Given the description of an element on the screen output the (x, y) to click on. 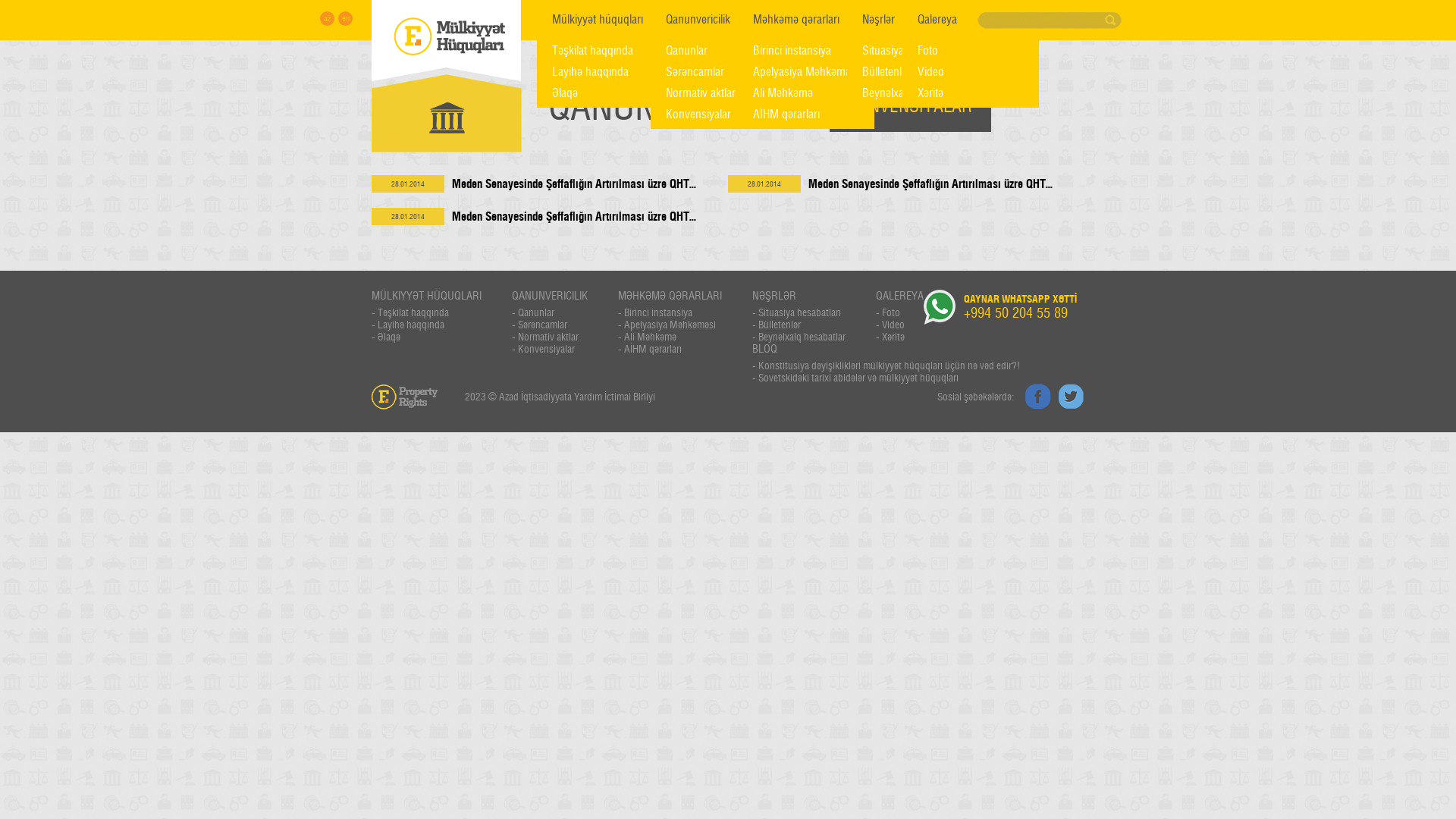
- Video Element type: text (899, 324)
Video Element type: text (970, 71)
Foto Element type: text (970, 50)
- Birinci instansiya Element type: text (669, 312)
Property Rights Element type: text (446, 40)
Konvensiyalar Element type: text (718, 114)
Search Element type: text (1112, 20)
- Konvensiyalar Element type: text (549, 348)
Qanunvericilik Element type: text (697, 20)
Bloq Element type: text (990, 20)
en Element type: text (345, 18)
az Element type: text (327, 18)
Birinci instansiya Element type: text (806, 50)
- Foto Element type: text (899, 312)
Qanunlar Element type: text (718, 50)
- Normativ aktlar Element type: text (549, 336)
Qalereya Element type: text (937, 20)
Normativ aktlar Element type: text (718, 92)
- Qanunlar Element type: text (549, 312)
